Given the description of an element on the screen output the (x, y) to click on. 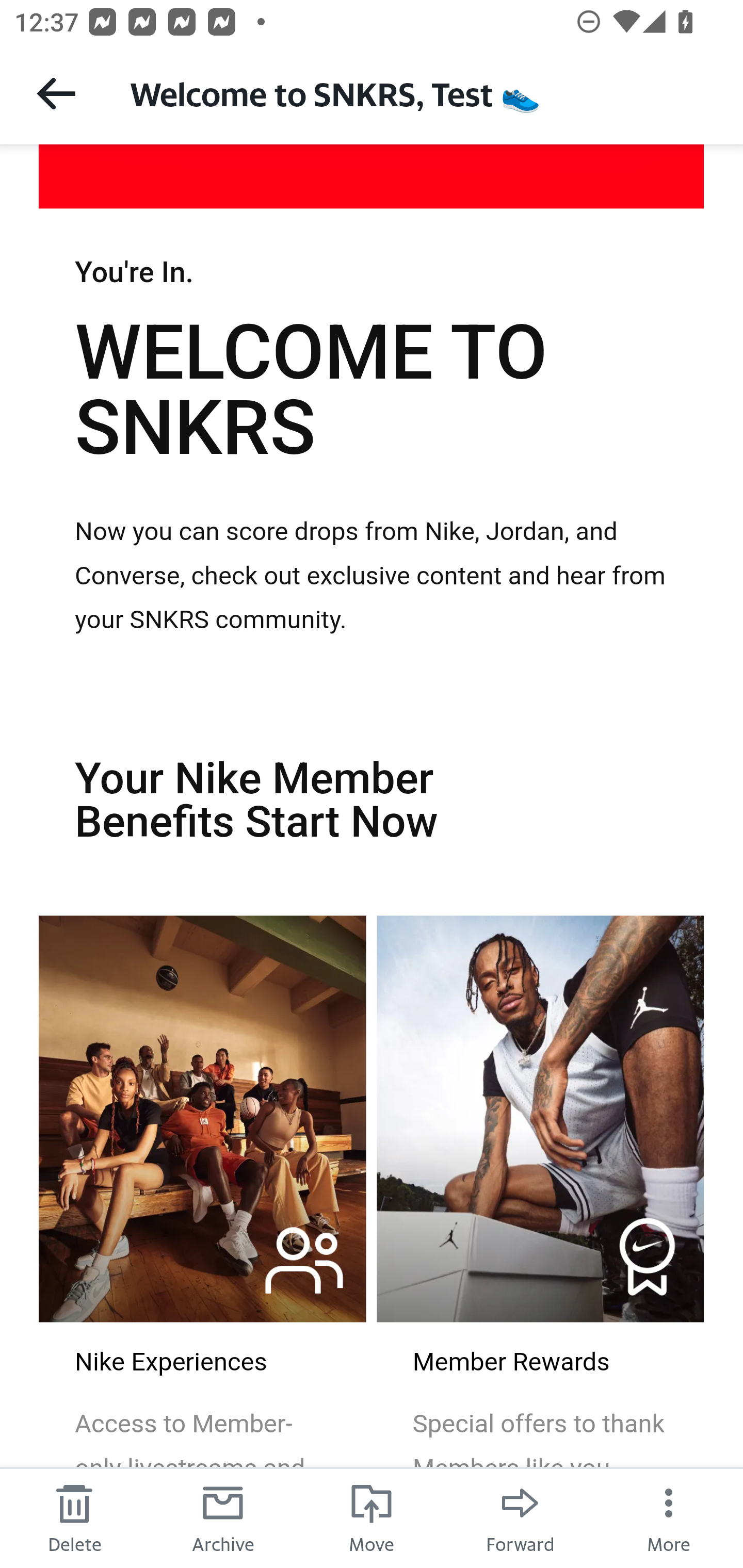
Back (55, 92)
Delete (74, 1517)
Archive (222, 1517)
Move (371, 1517)
Forward (519, 1517)
More (668, 1517)
